Given the description of an element on the screen output the (x, y) to click on. 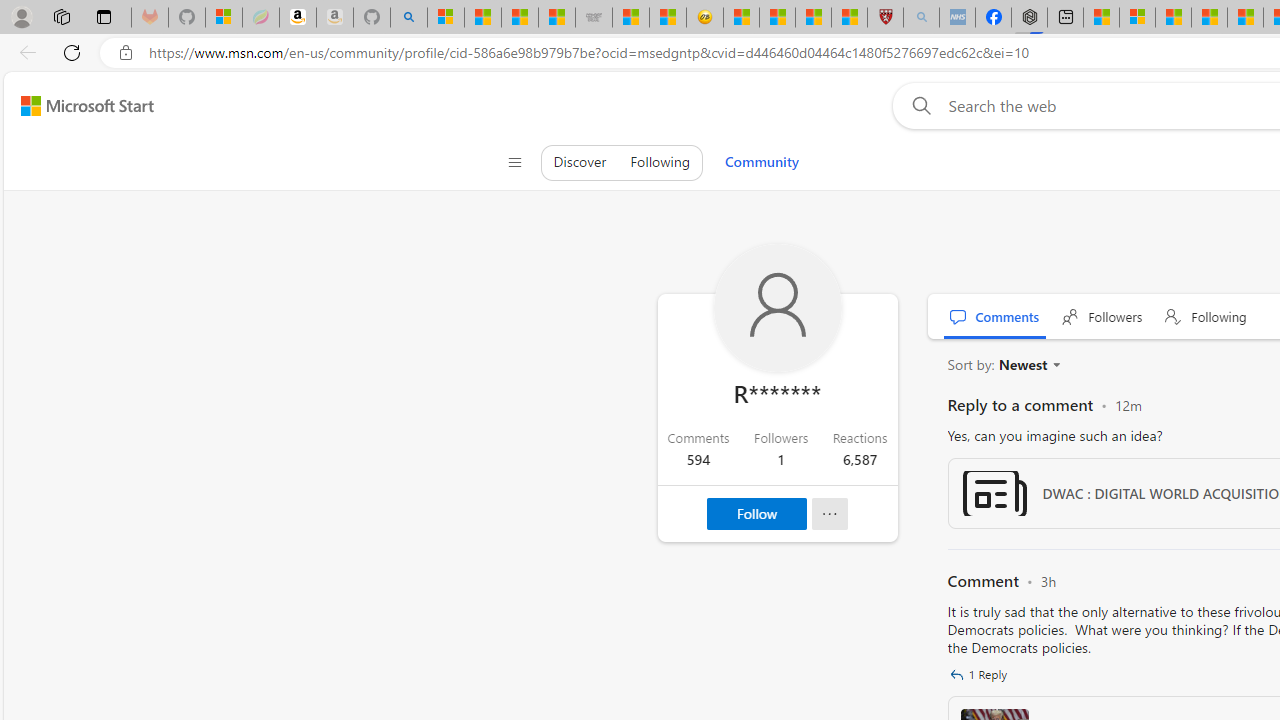
Community (761, 161)
Content thumbnail (994, 493)
 Following (1206, 316)
1 Reply (980, 674)
